Given the description of an element on the screen output the (x, y) to click on. 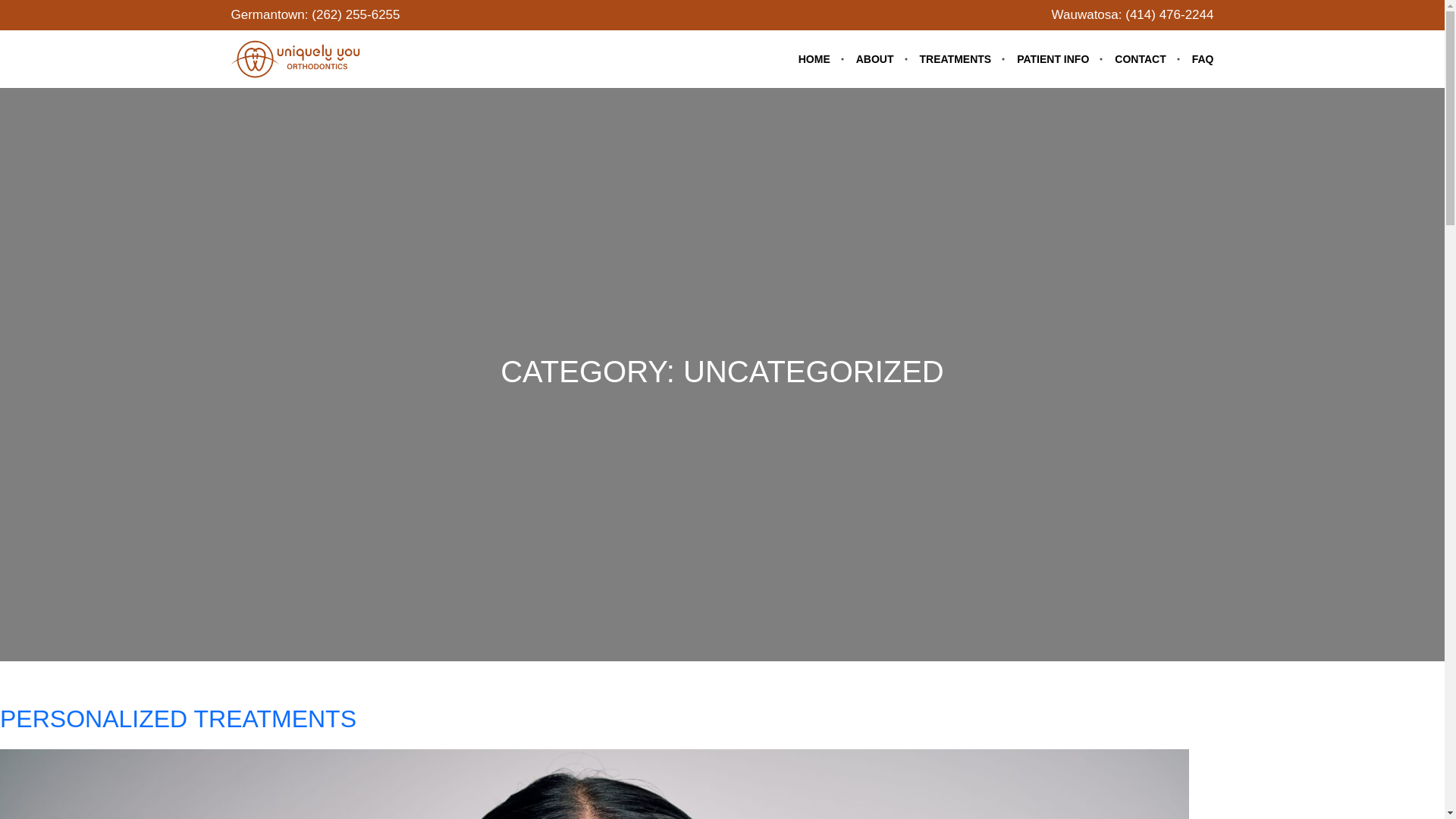
FAQ (1203, 58)
HOME (820, 58)
ABOUT (881, 58)
TREATMENTS (963, 58)
PATIENT INFO (1059, 58)
CONTACT (1147, 58)
PERSONALIZED TREATMENTS (178, 718)
